Given the description of an element on the screen output the (x, y) to click on. 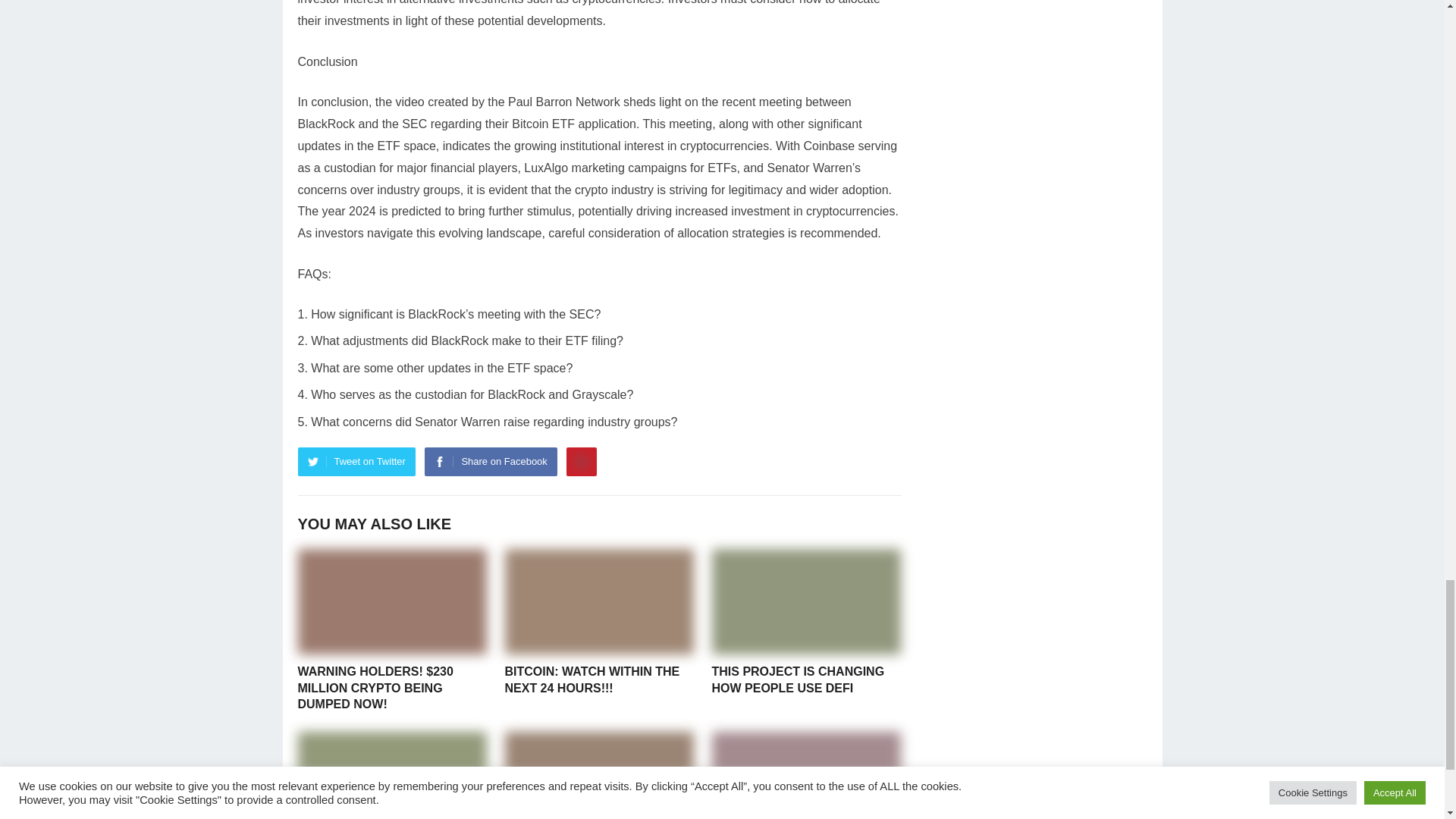
Share on Facebook (490, 461)
Tweet on Twitter (355, 461)
Pinterest (581, 461)
THIS PROJECT IS CHANGING HOW PEOPLE USE DEFI (797, 679)
BITCOIN: WATCH WITHIN THE NEXT 24 HOURS!!! (592, 679)
